Given the description of an element on the screen output the (x, y) to click on. 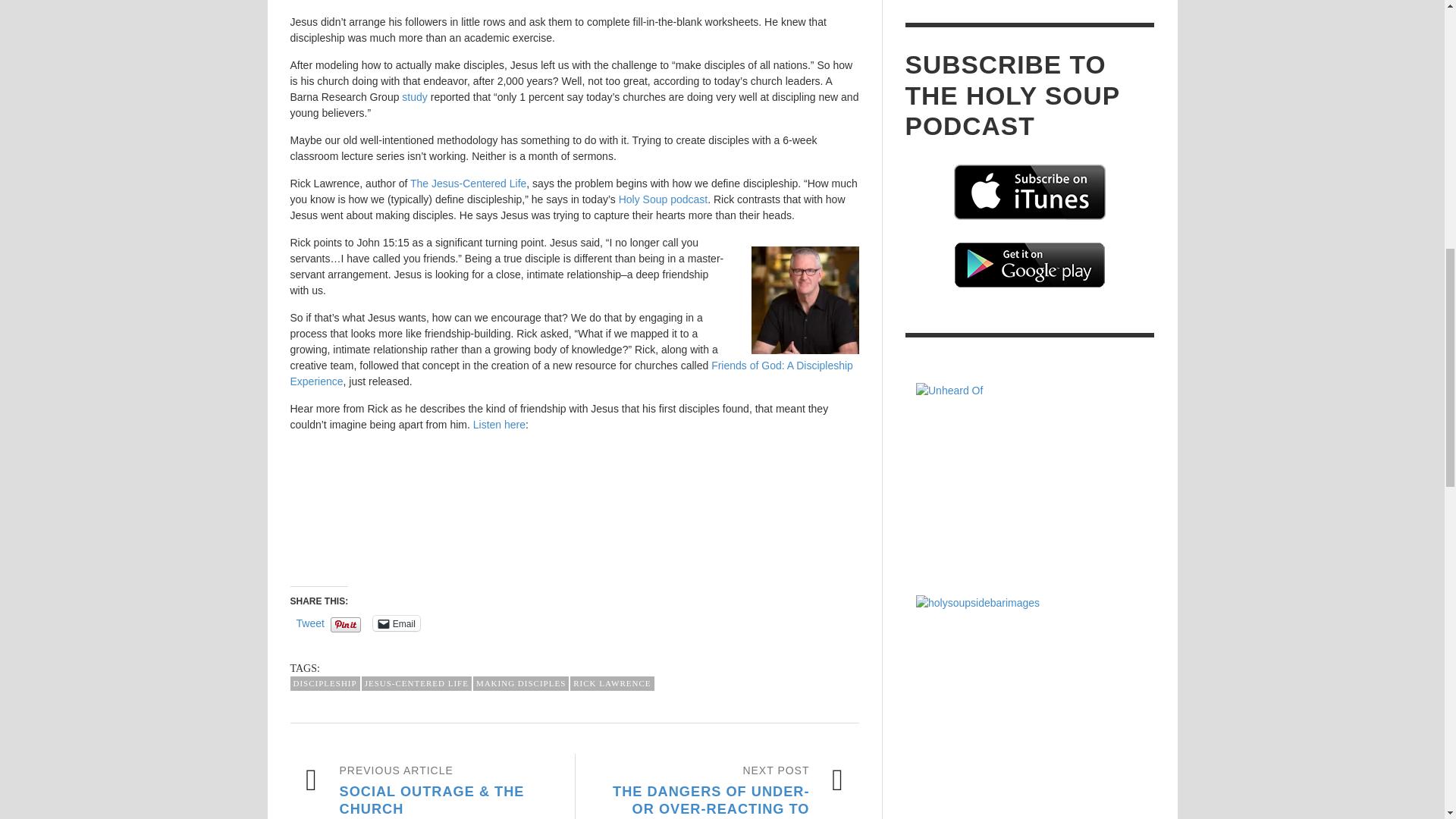
Click to email a link to a friend (396, 622)
study (413, 96)
View all posts in discipleship (324, 683)
Email (396, 622)
MAKING DISCIPLES (521, 683)
RICK LAWRENCE (611, 683)
View all posts in making disciples (521, 683)
DISCIPLESHIP (324, 683)
The Jesus-Centered Life (467, 183)
